Given the description of an element on the screen output the (x, y) to click on. 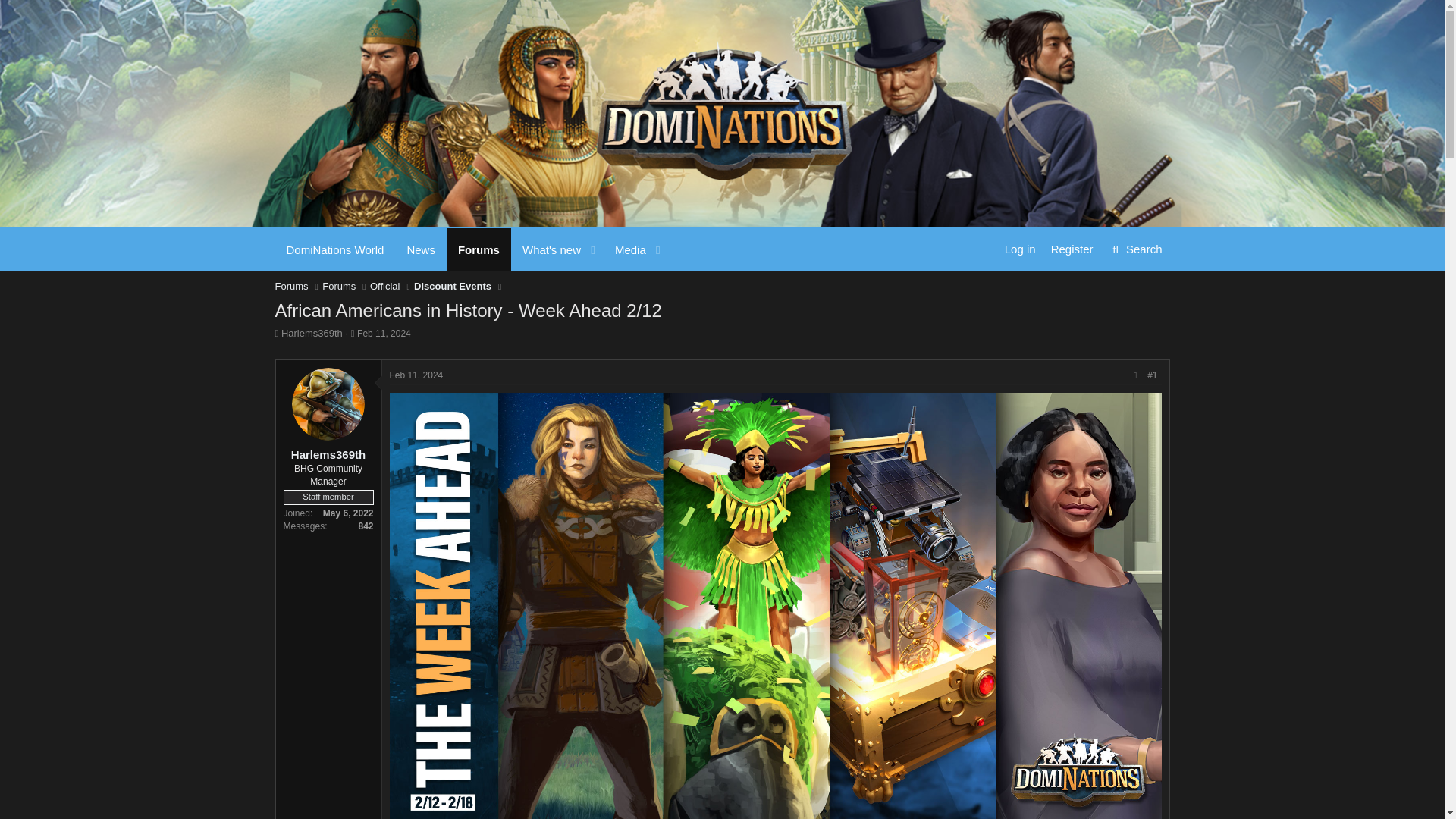
Forums (338, 286)
Feb 11, 2024 (417, 375)
Harlems369th (470, 249)
Feb 11, 2024 at 10:31 AM (311, 333)
DomiNations World (383, 333)
Feb 11, 2024 (334, 249)
Search (383, 333)
Discount Events (1135, 249)
Log in (452, 286)
